Given the description of an element on the screen output the (x, y) to click on. 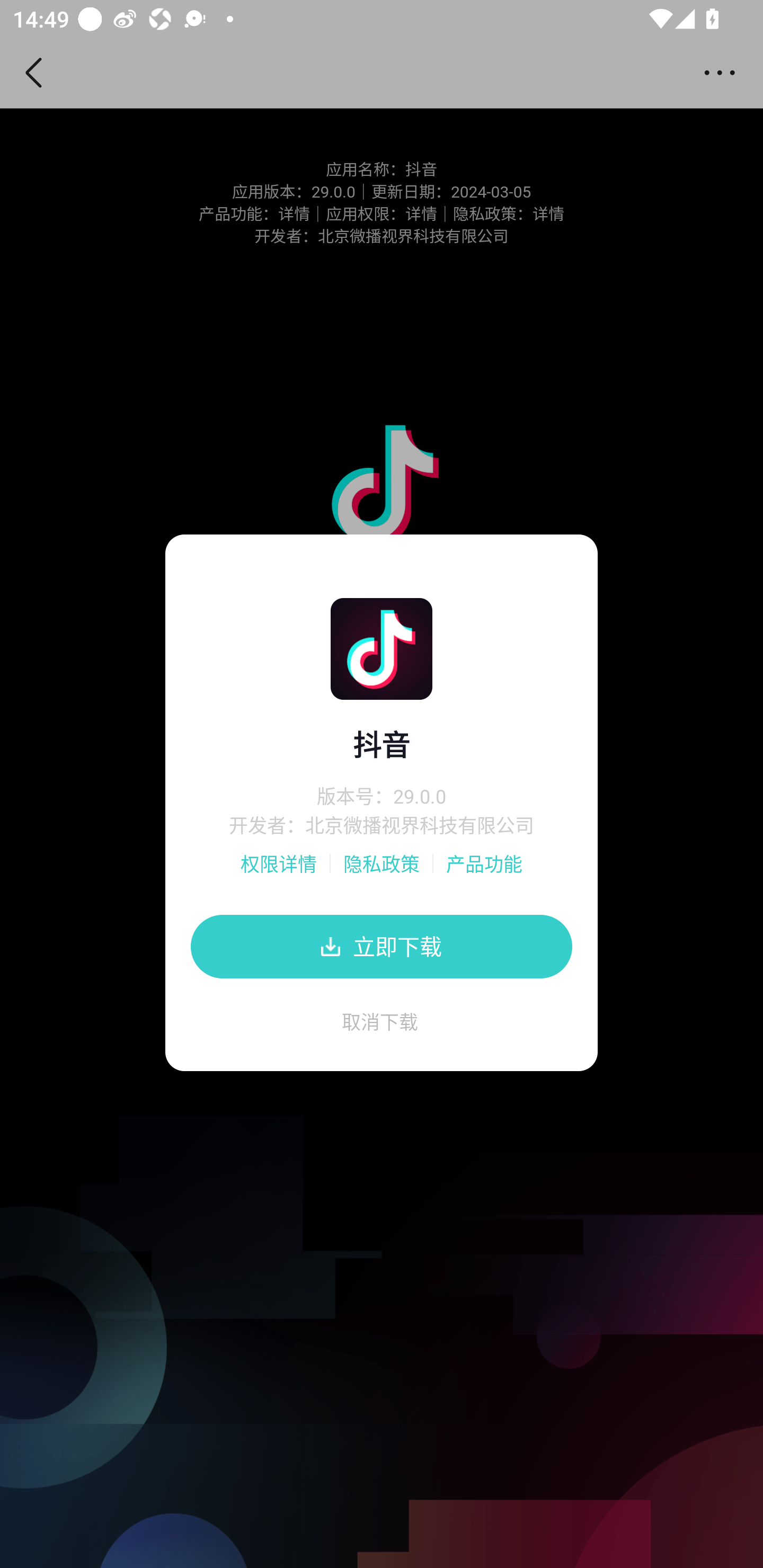
权限详情 (278, 863)
隐私政策 (381, 863)
产品功能 (483, 863)
立即下载 (381, 946)
取消下载 (381, 1027)
